Given the description of an element on the screen output the (x, y) to click on. 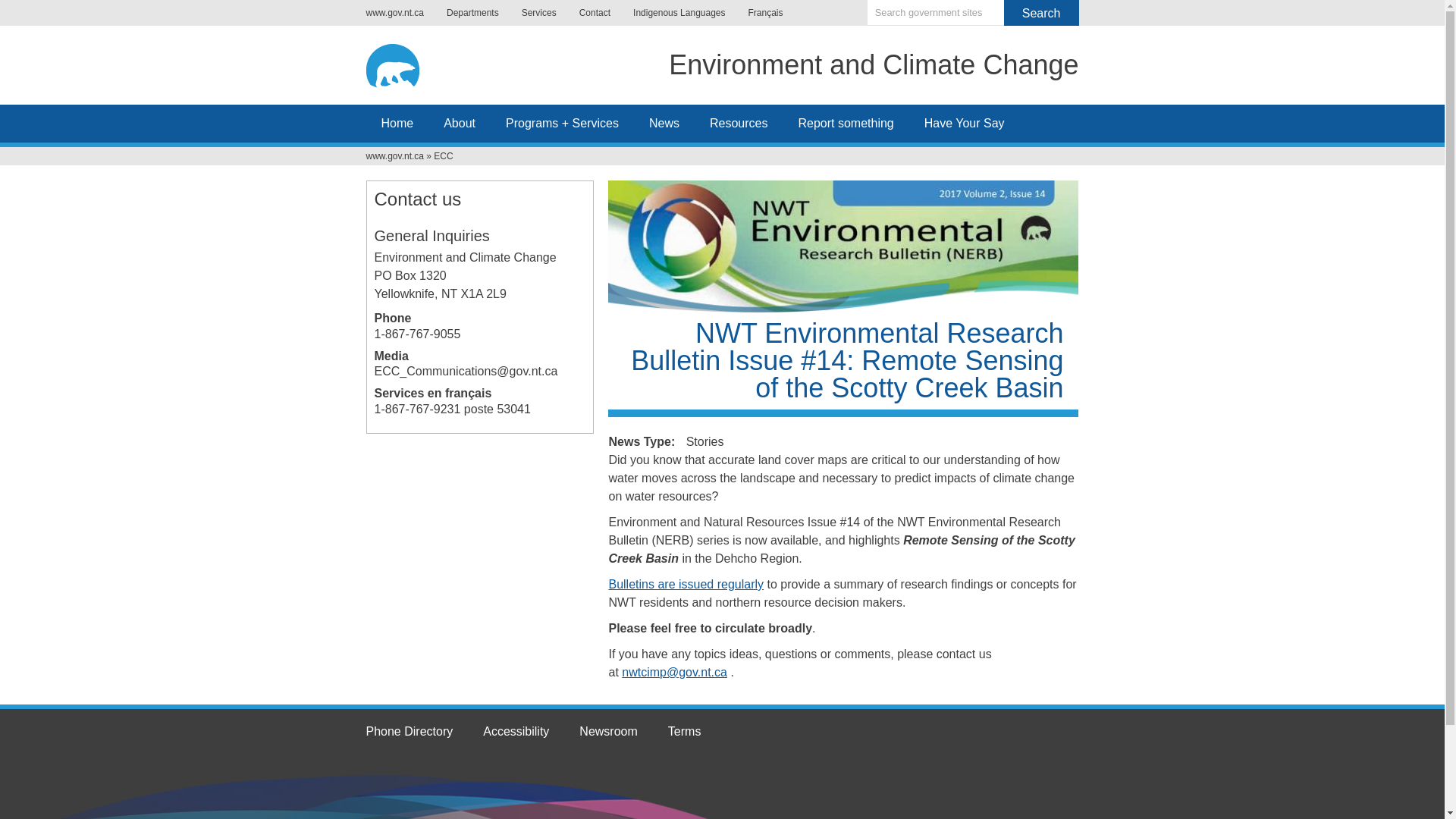
Indigenous Languages (678, 12)
Departments (473, 12)
Search (1041, 12)
Contact (594, 12)
About (459, 123)
Search (1041, 12)
Have Your Say (964, 123)
Home (405, 62)
Environment and Climate Change (873, 68)
www.gov.nt.ca (399, 12)
Report something (845, 123)
Home (873, 68)
Resources (738, 123)
News (663, 123)
Services (539, 12)
